Given the description of an element on the screen output the (x, y) to click on. 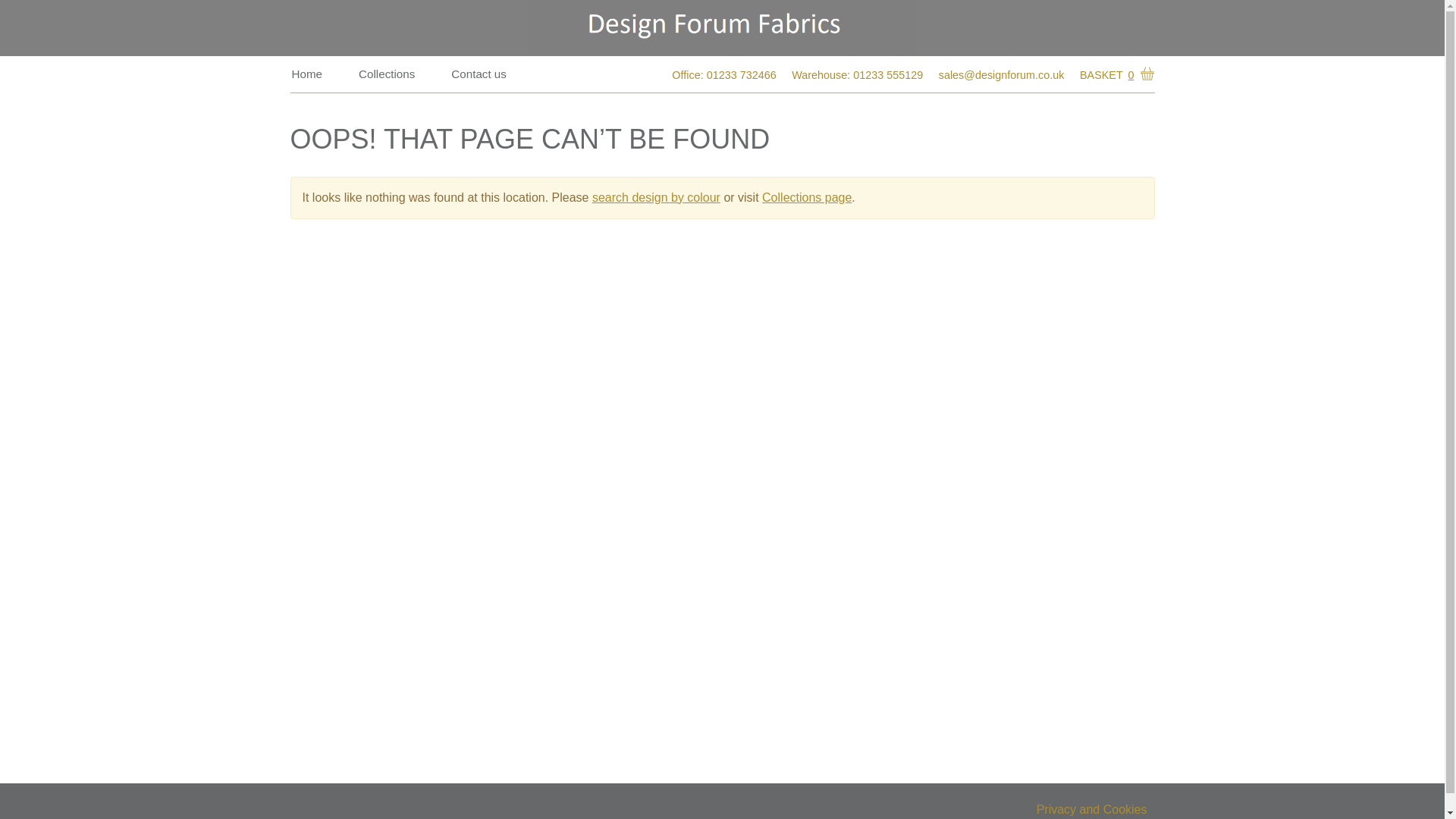
Home (307, 74)
Collections page (806, 196)
search design by colour (656, 196)
Design Forum (721, 28)
Collections (386, 74)
Warehouse: 01233 555129 (857, 75)
BASKET 0 (1114, 75)
Office: 01233 732466 (723, 75)
Contact us (478, 74)
Privacy and Cookies (1091, 809)
